Given the description of an element on the screen output the (x, y) to click on. 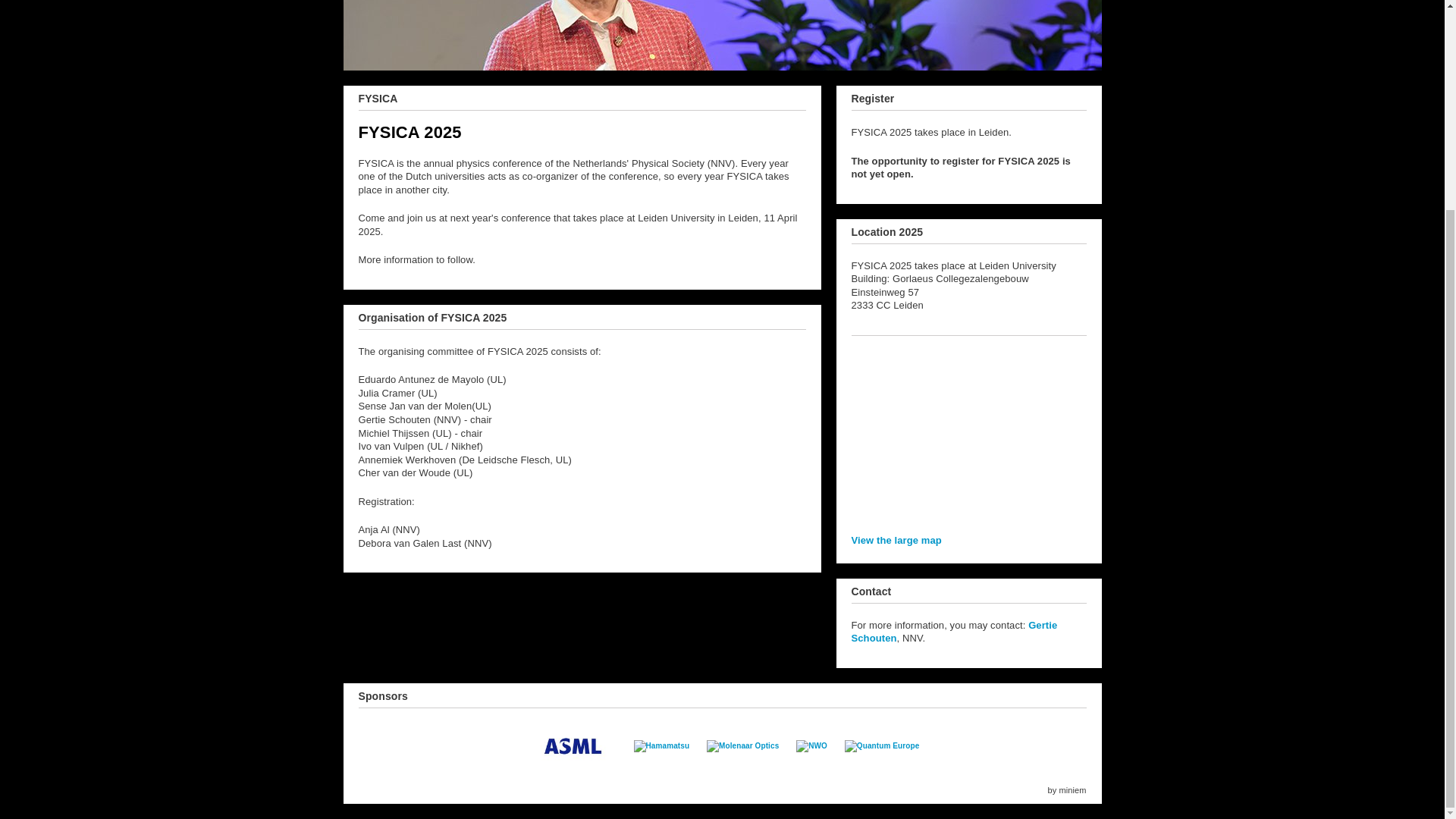
by miniem (1066, 789)
Gertie Schouten (953, 631)
View the large map (895, 540)
